Given the description of an element on the screen output the (x, y) to click on. 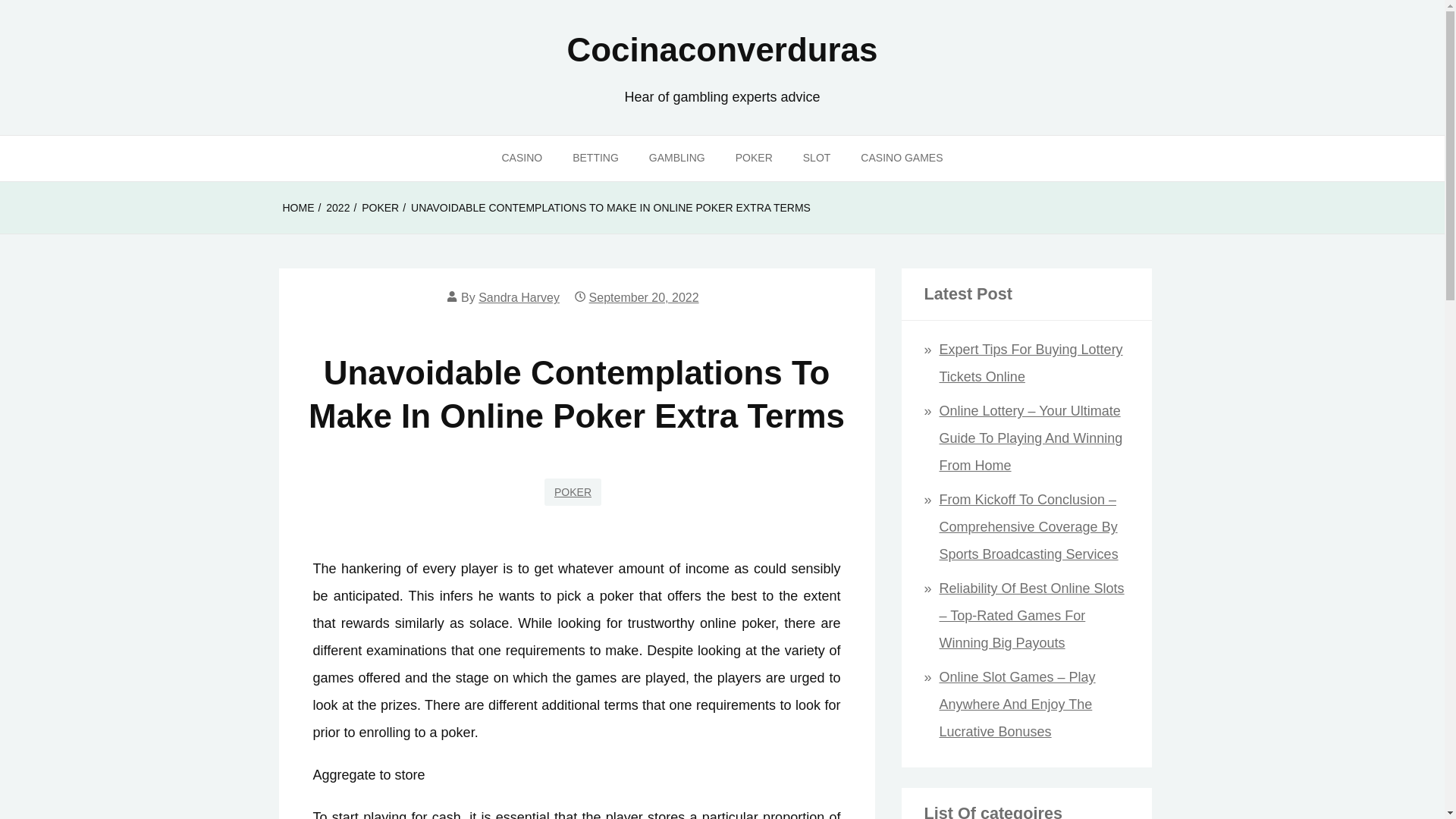
Cocinaconverduras (722, 49)
Expert Tips For Buying Lottery Tickets Online (1030, 363)
September 20, 2022 (643, 297)
POKER (753, 157)
2022 (337, 207)
GAMBLING (676, 157)
SLOT (816, 157)
CASINO (521, 157)
CASINO GAMES (901, 157)
